Given the description of an element on the screen output the (x, y) to click on. 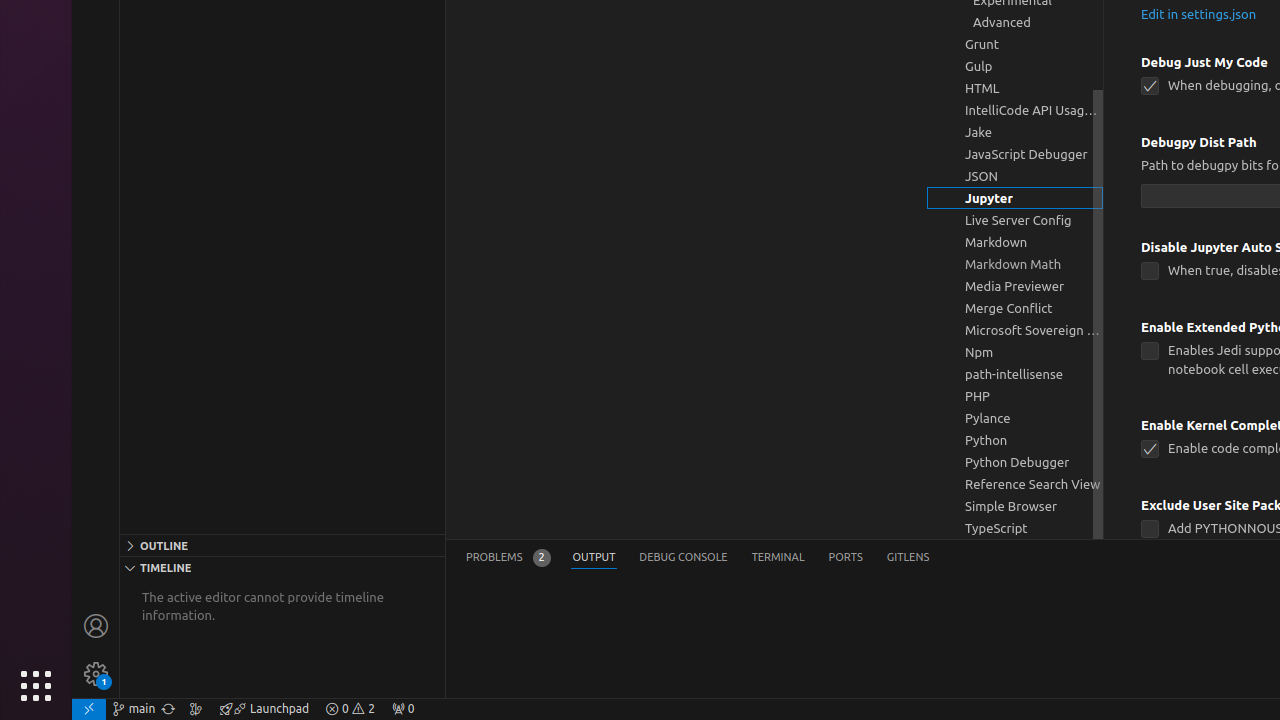
jupyter.enableKernelCompletions Element type: check-box (1150, 449)
Active View Switcher Element type: page-tab-list (698, 557)
TypeScript, group Element type: tree-item (1015, 528)
Markdown, group Element type: tree-item (1015, 241)
Accounts Element type: push-button (96, 626)
